Given the description of an element on the screen output the (x, y) to click on. 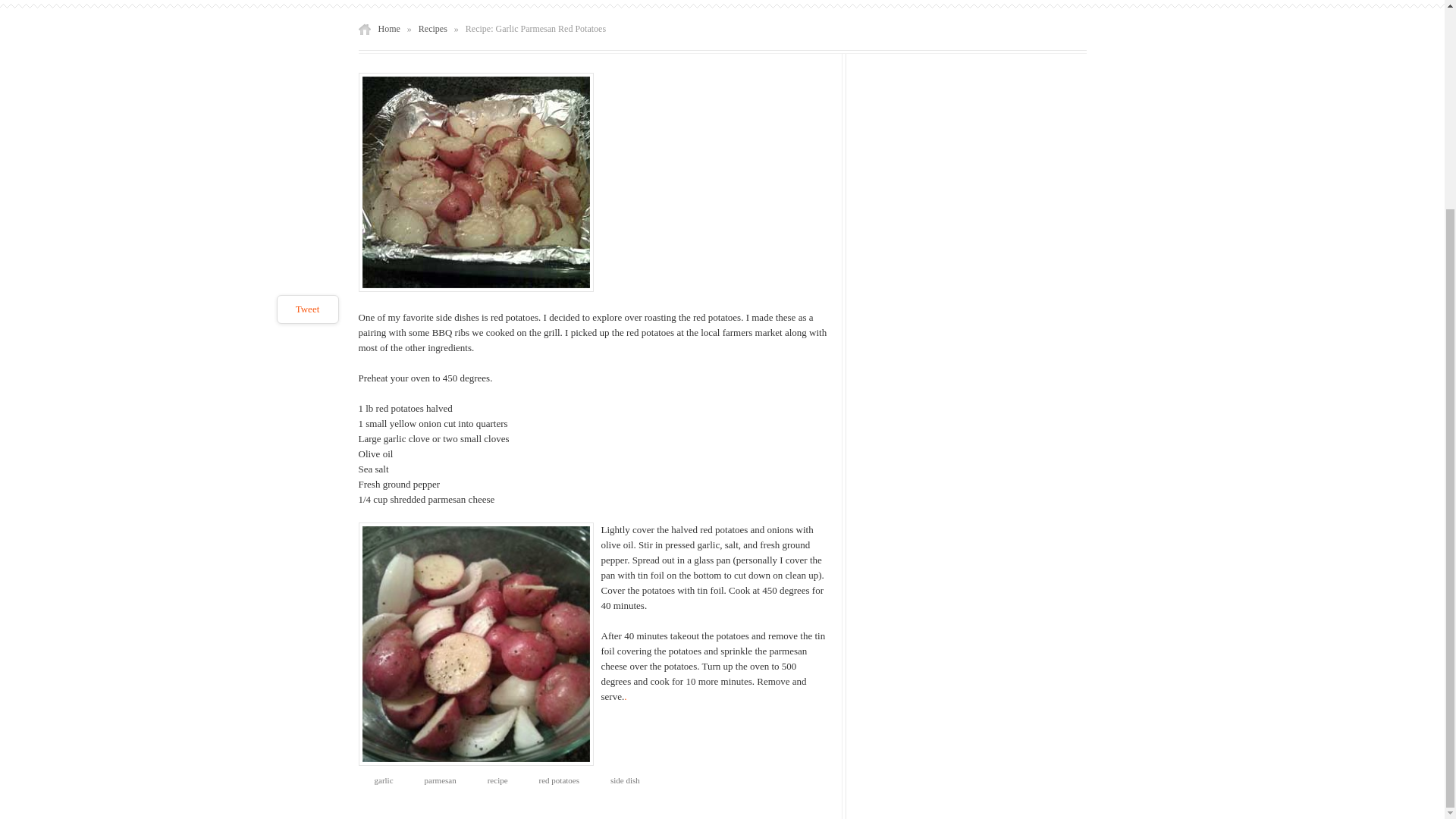
garlic (379, 780)
garlic-red-potatoes (475, 643)
side dish (620, 780)
red potatoes (554, 780)
Recipes (432, 28)
Home (387, 28)
parmesan (436, 780)
Tweet (307, 38)
recipe (493, 780)
